Given the description of an element on the screen output the (x, y) to click on. 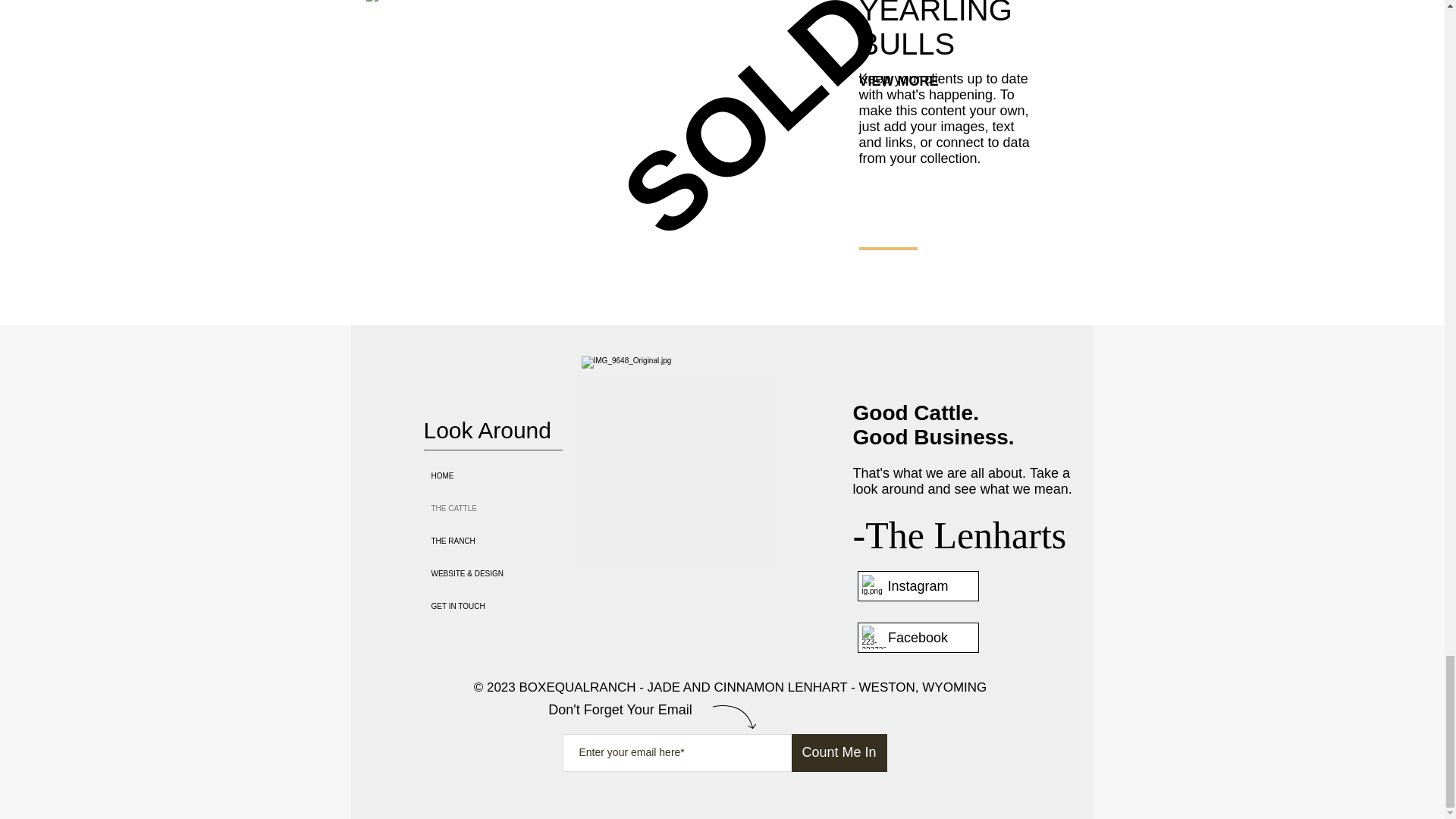
Instagram (917, 585)
HOME (509, 475)
THE CATTLE (509, 508)
Count Me In (839, 752)
THE RANCH (509, 540)
GET IN TOUCH (509, 605)
Facebook (917, 637)
